Given the description of an element on the screen output the (x, y) to click on. 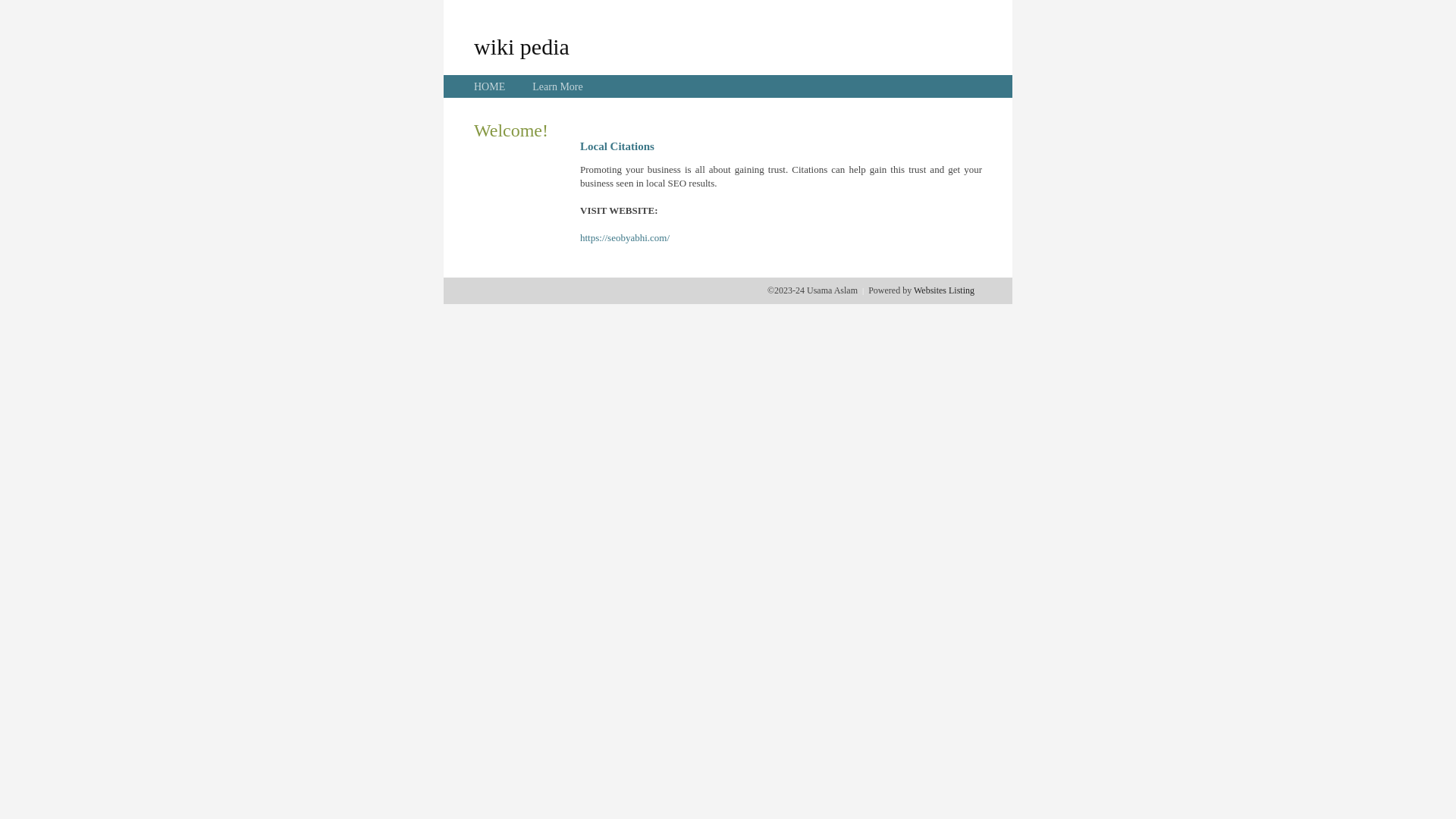
HOME Element type: text (489, 86)
Websites Listing Element type: text (943, 290)
https://seobyabhi.com/ Element type: text (624, 237)
Learn More Element type: text (557, 86)
wiki pedia Element type: text (521, 46)
